Given the description of an element on the screen output the (x, y) to click on. 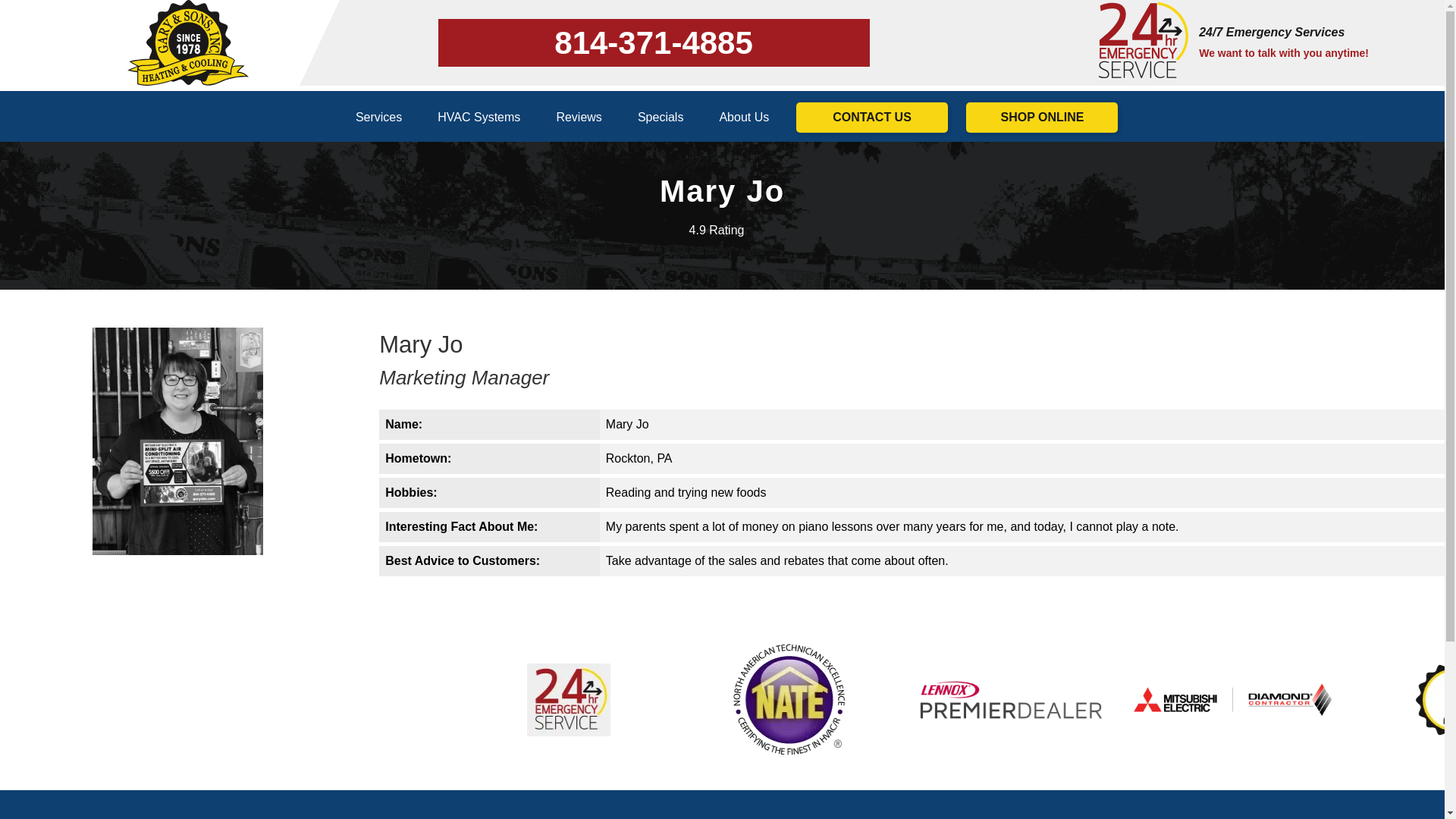
HVAC Systems (479, 116)
Services (378, 116)
814-371-4885 (653, 42)
Reviews (578, 116)
